Given the description of an element on the screen output the (x, y) to click on. 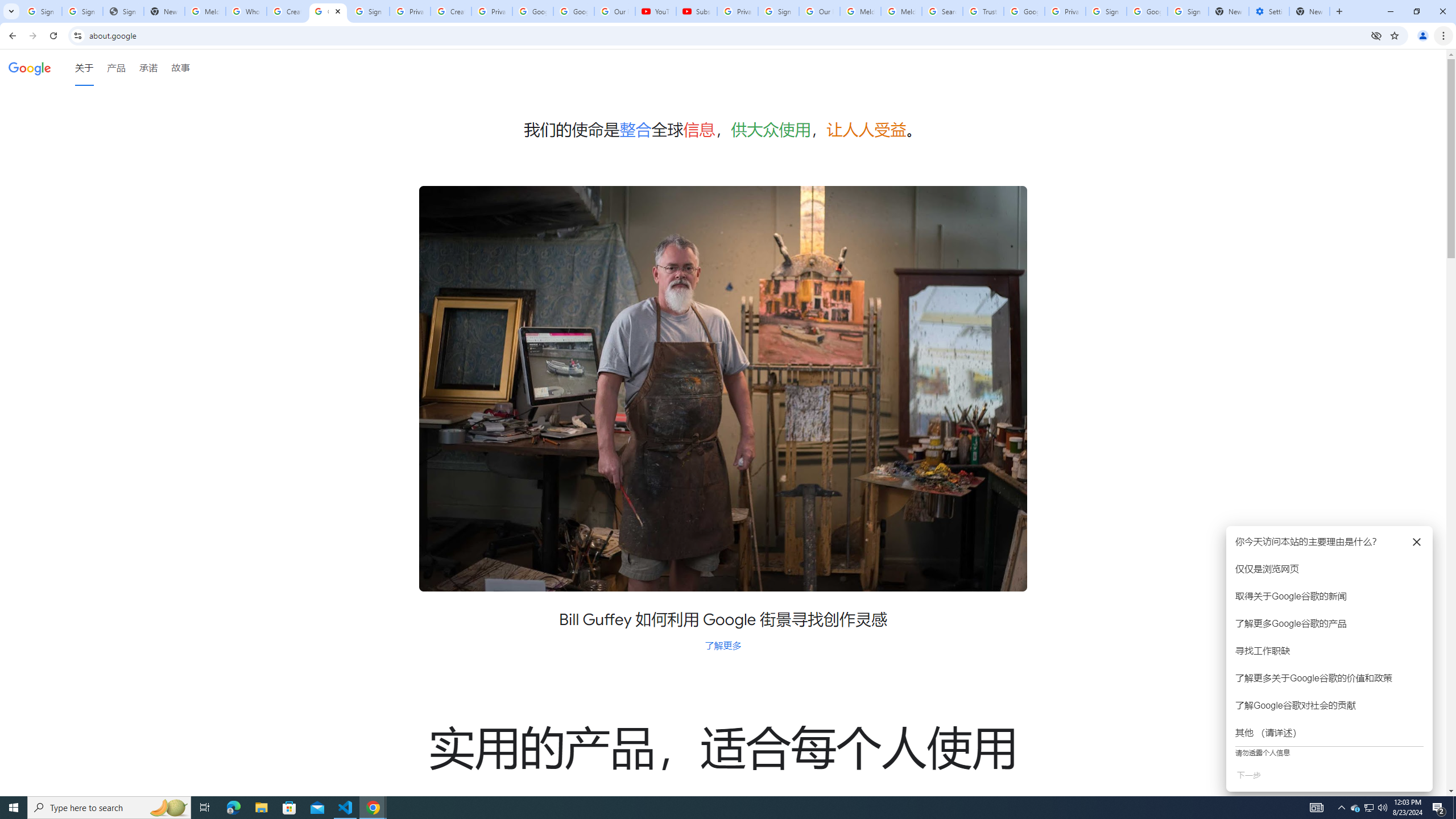
Sign in - Google Accounts (777, 11)
Sign in - Google Accounts (81, 11)
